Given the description of an element on the screen output the (x, y) to click on. 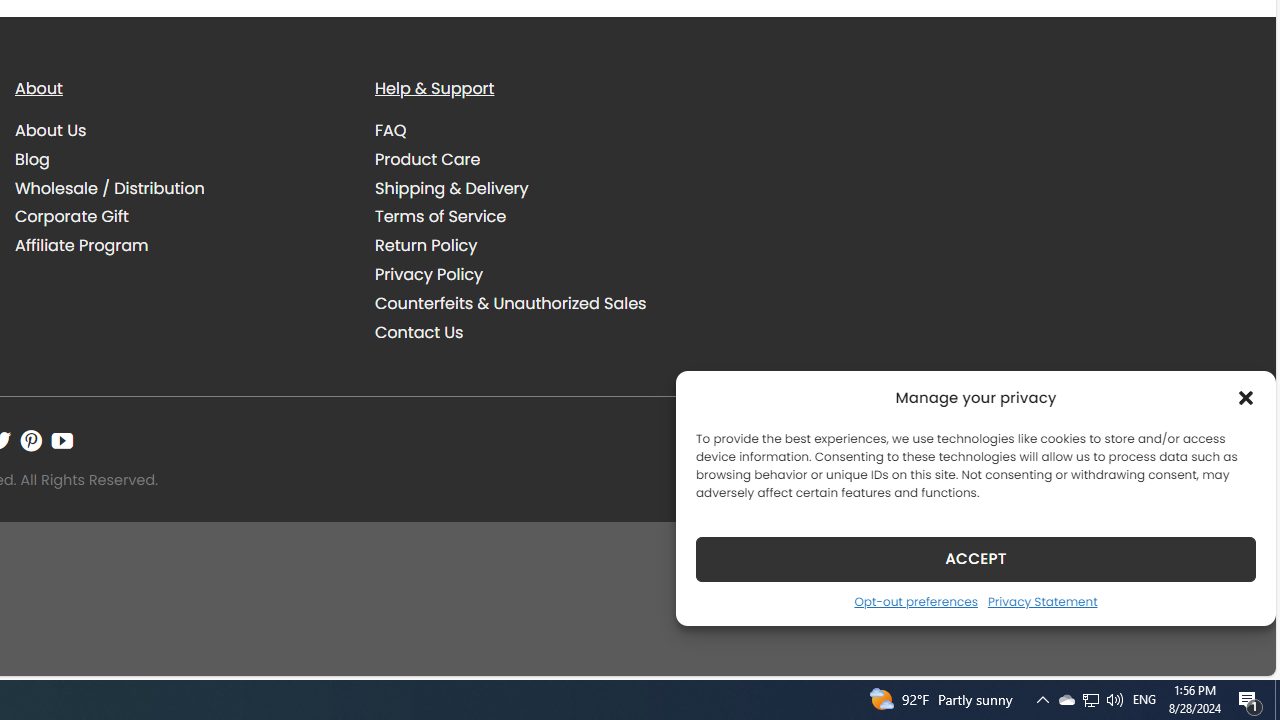
About Us (51, 130)
Terms of Service (440, 216)
